Given the description of an element on the screen output the (x, y) to click on. 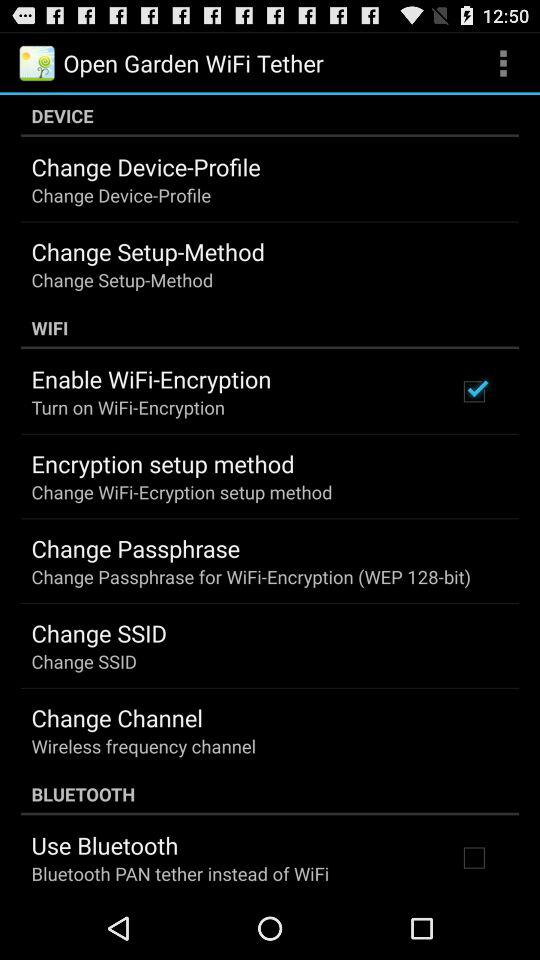
flip until wireless frequency channel app (143, 745)
